Given the description of an element on the screen output the (x, y) to click on. 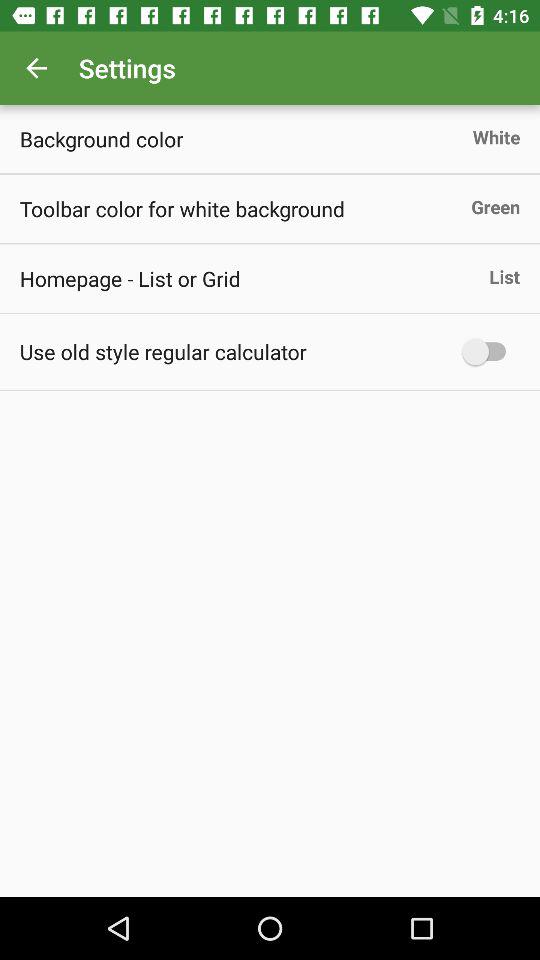
select the icon next to the list (129, 278)
